Given the description of an element on the screen output the (x, y) to click on. 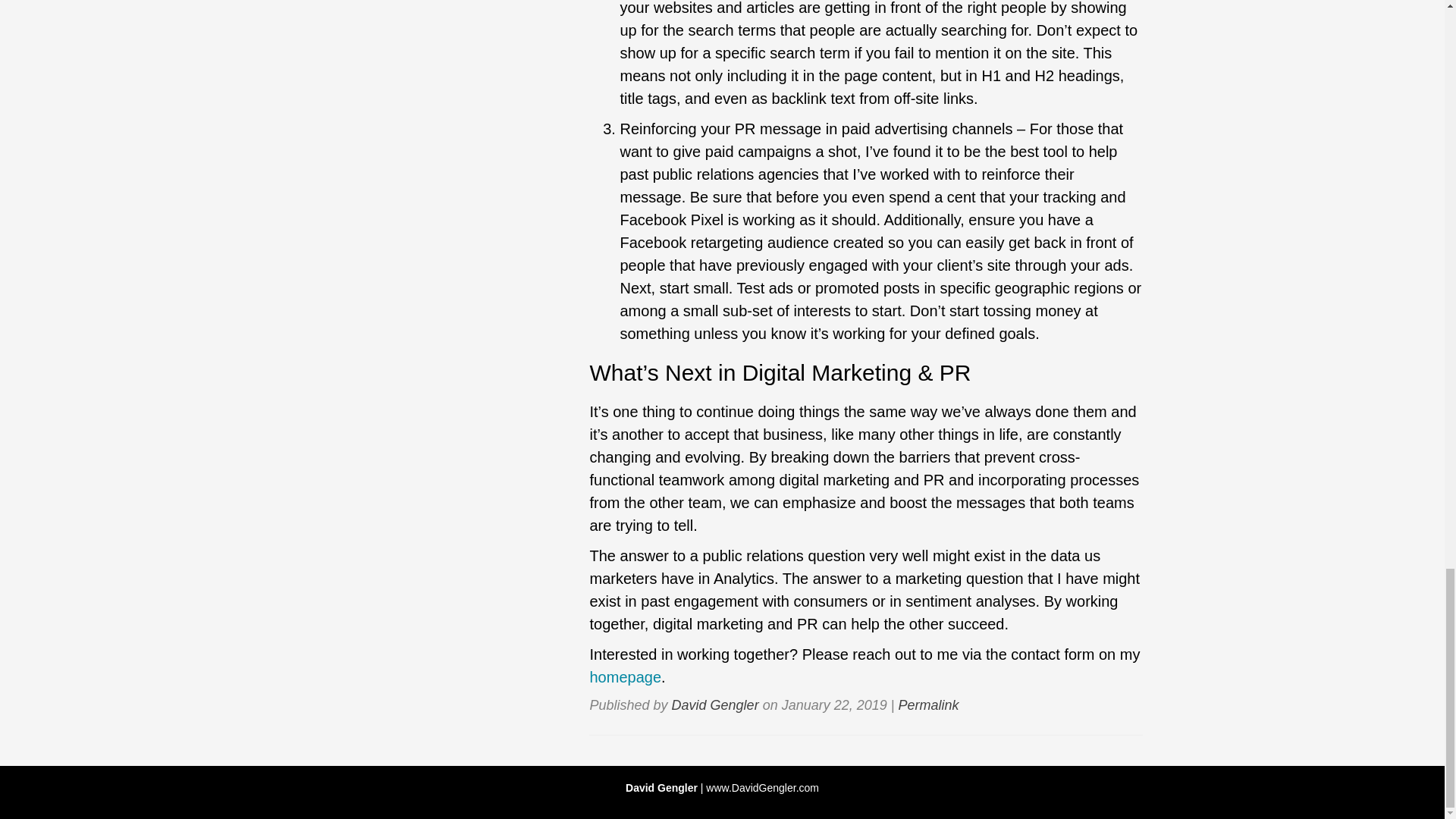
www.DavidGengler.com (762, 787)
David Gengler (714, 704)
Permalink (928, 704)
homepage (625, 677)
